Given the description of an element on the screen output the (x, y) to click on. 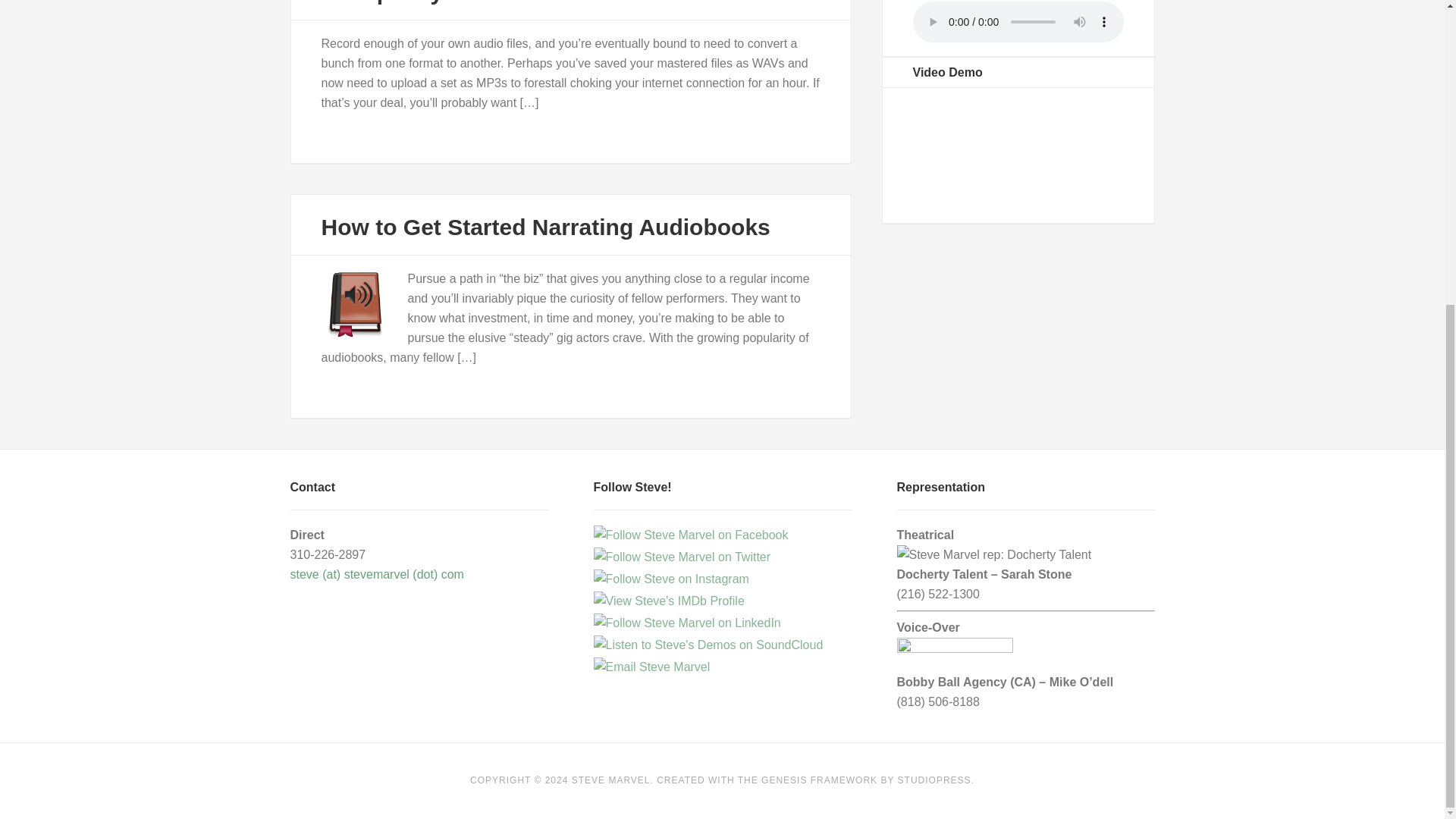
How to Get Started Narrating Audiobooks (545, 226)
Follow Steve on Twitter (681, 557)
GENESIS FRAMEWORK (819, 779)
Reels (1018, 152)
STUDIOPRESS (934, 779)
Follow Steve on Instagram (670, 578)
Follow Steve on Facebook (689, 535)
